Given the description of an element on the screen output the (x, y) to click on. 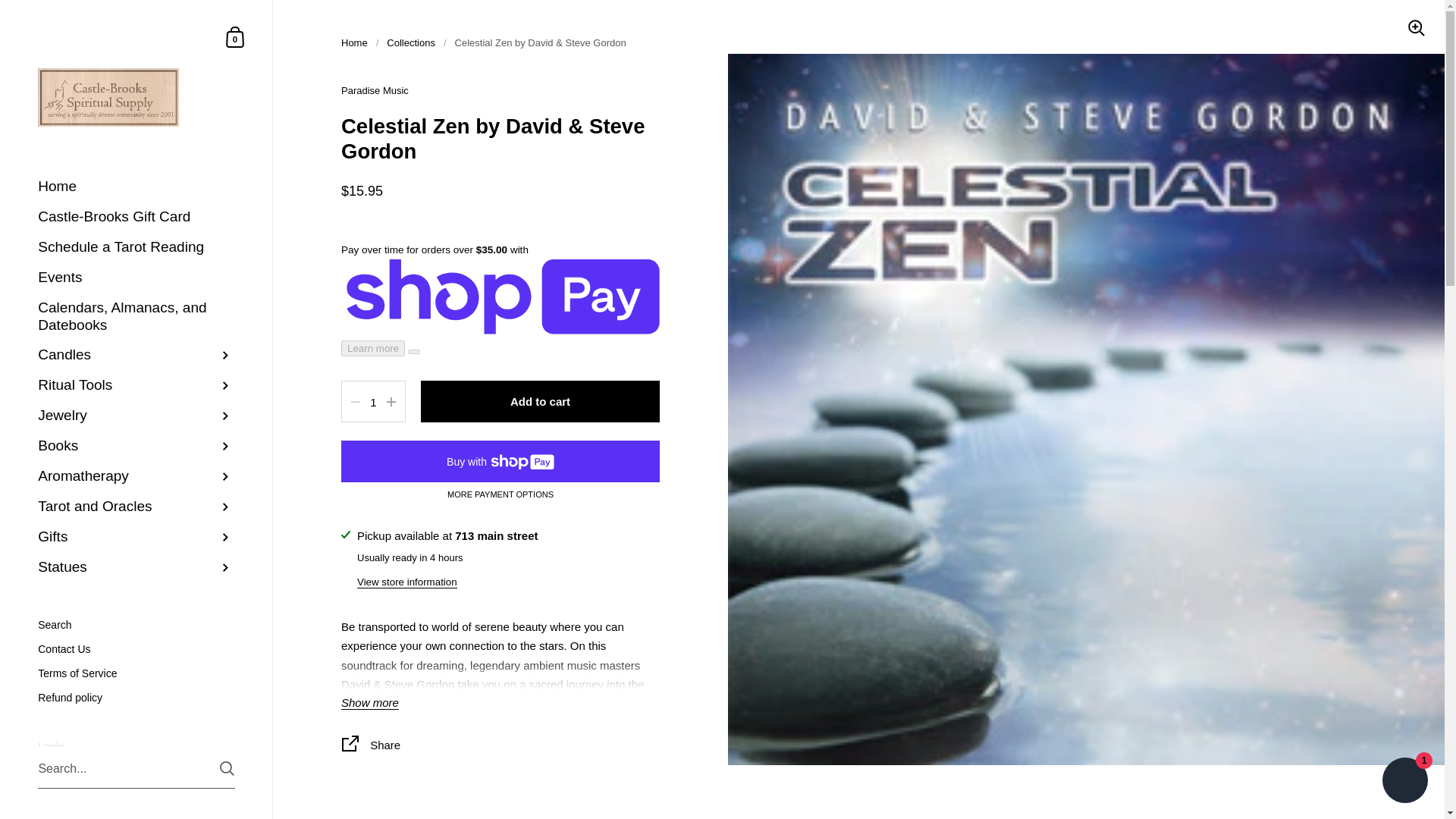
Schedule a Tarot Reading (136, 247)
Shopify online store chat (1404, 781)
Candles (136, 355)
Ritual Tools (136, 386)
Events (136, 277)
Home (136, 186)
1 (373, 402)
Shopping Cart (235, 35)
Castle-Brooks Gift Card (235, 35)
Calendars, Almanacs, and Datebooks (136, 217)
Jewelry (136, 316)
